Given the description of an element on the screen output the (x, y) to click on. 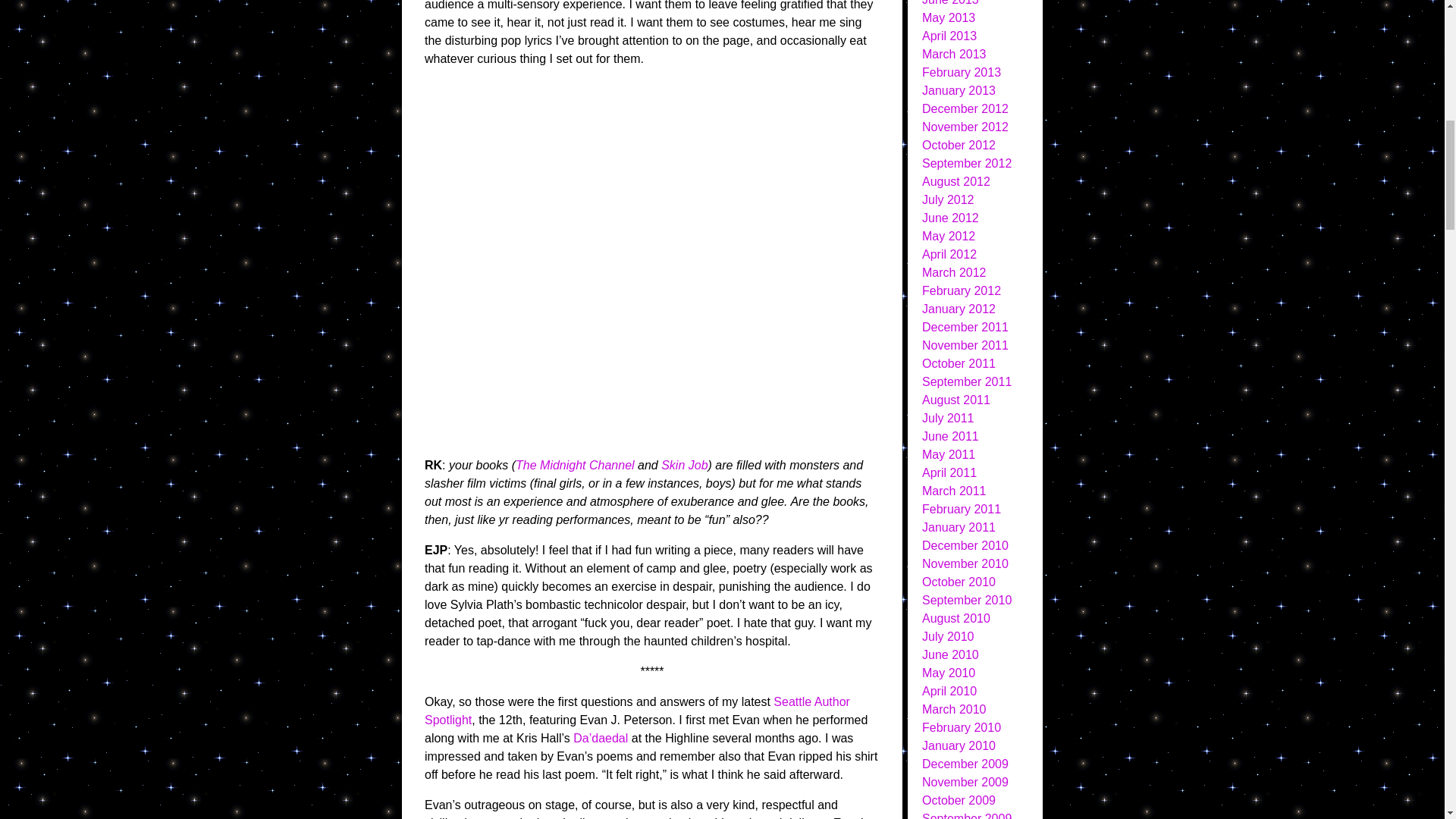
Seattle Author Spotlight (637, 710)
The Midnight Channel (574, 464)
Skin Job (684, 464)
